Given the description of an element on the screen output the (x, y) to click on. 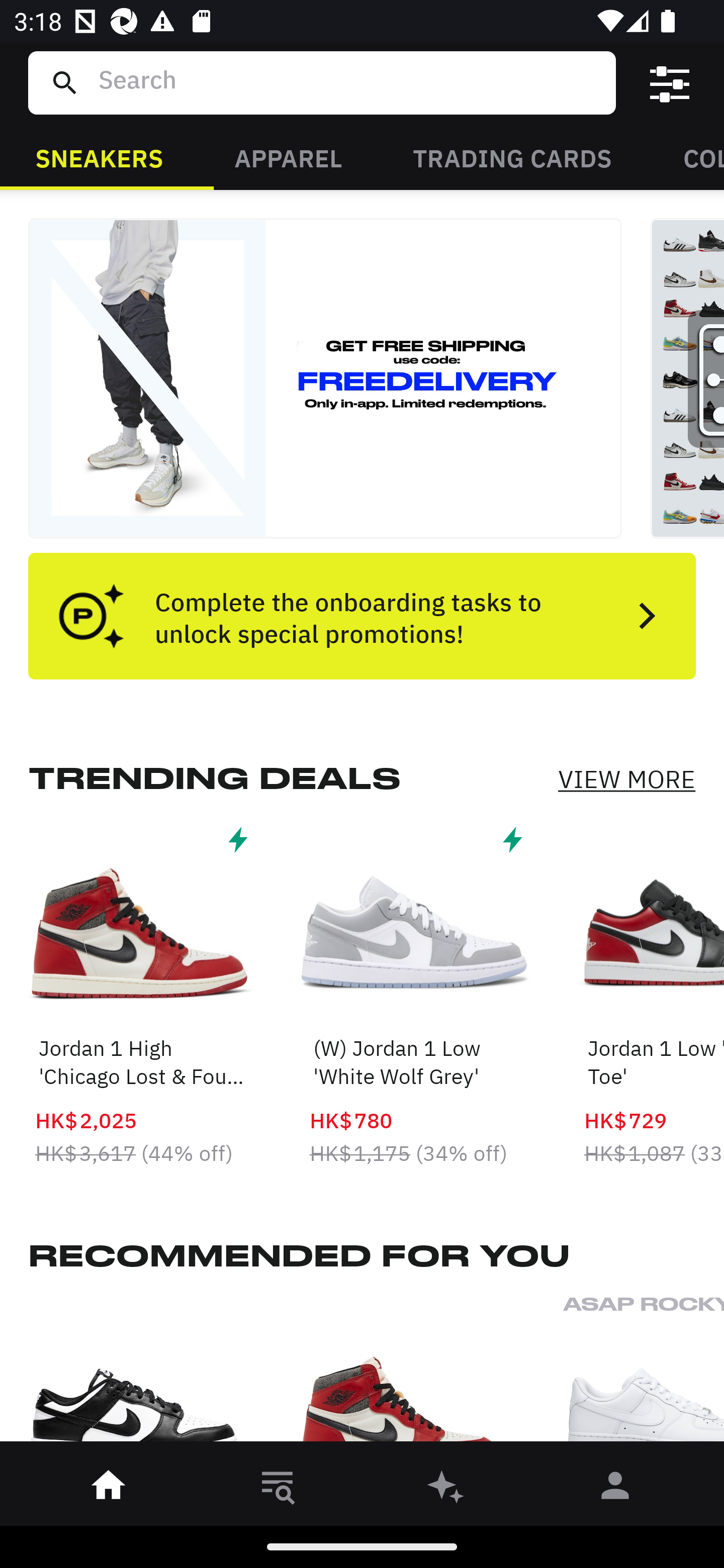
Search (349, 82)
 (669, 82)
SNEAKERS (99, 156)
APPAREL (287, 156)
TRADING CARDS (512, 156)
VIEW MORE (626, 779)
ASAP ROCKY (643, 1373)
󰋜 (108, 1488)
󱎸 (277, 1488)
󰫢 (446, 1488)
󰀄 (615, 1488)
